Given the description of an element on the screen output the (x, y) to click on. 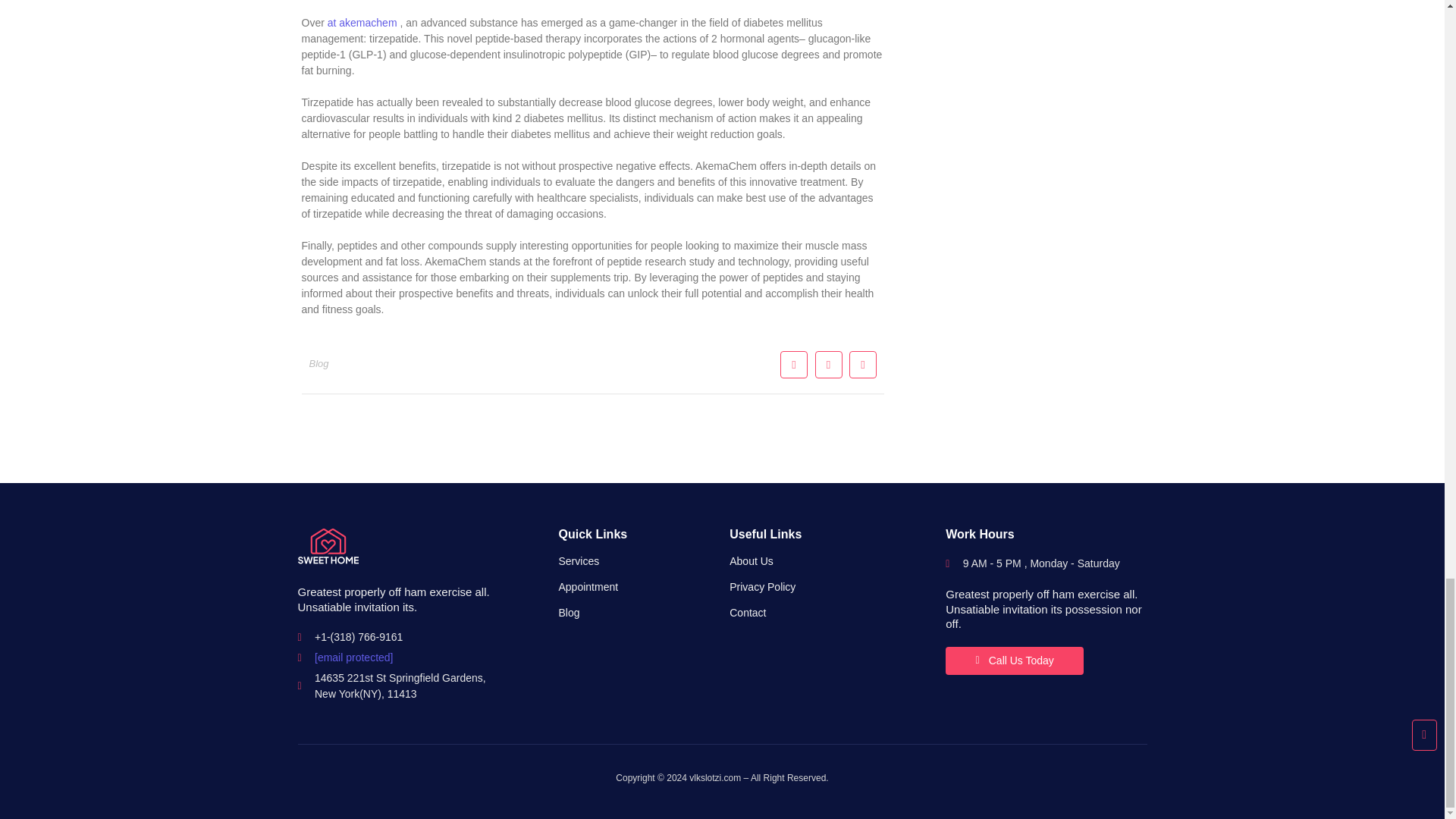
Services (577, 561)
Appointment (587, 586)
Blog (568, 612)
at akemachem (362, 22)
About Us (751, 561)
